Given the description of an element on the screen output the (x, y) to click on. 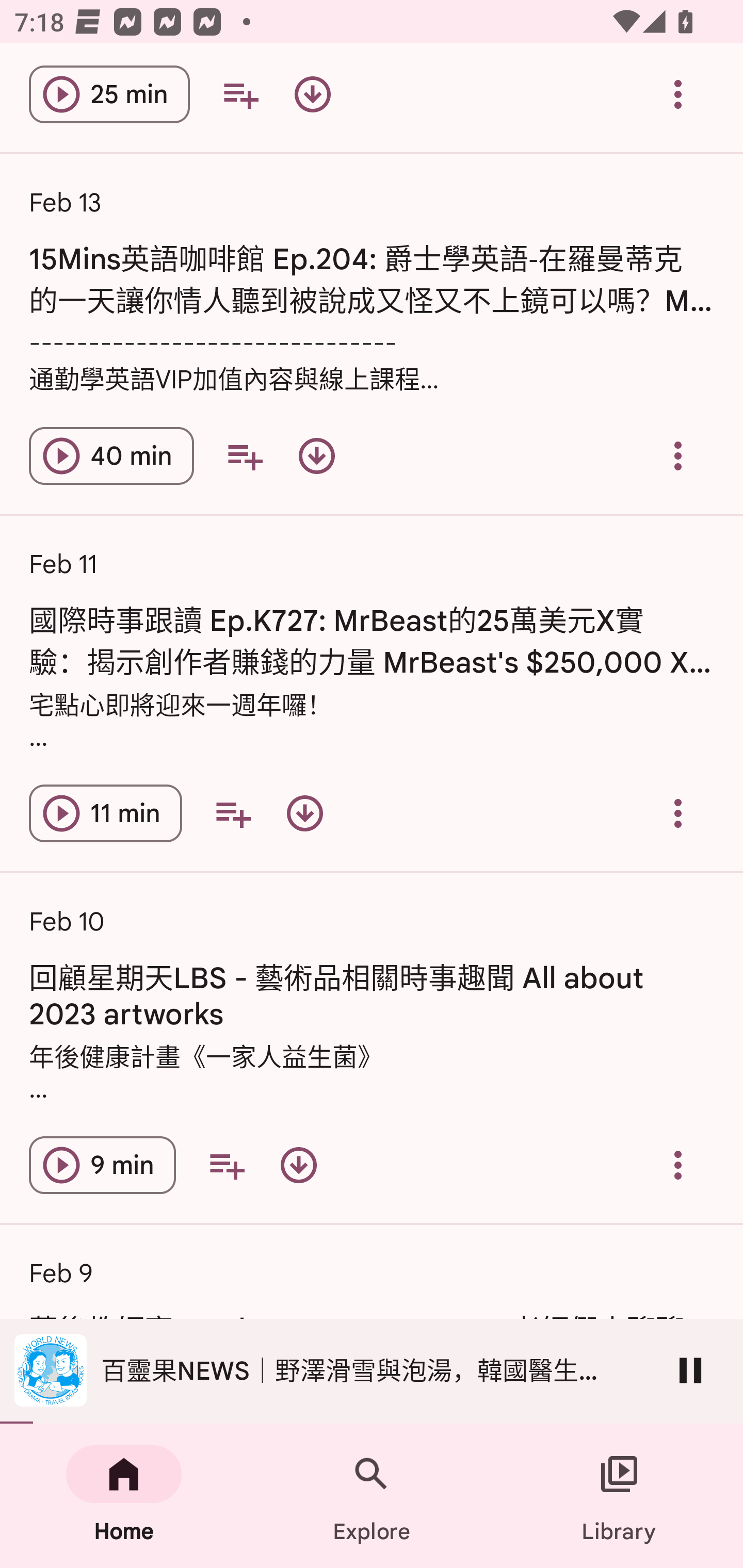
Add to your queue (240, 94)
Download episode (312, 94)
Overflow menu (677, 94)
Add to your queue (244, 455)
Download episode (316, 455)
Overflow menu (677, 455)
Add to your queue (232, 812)
Download episode (304, 812)
Overflow menu (677, 812)
Add to your queue (226, 1164)
Download episode (298, 1164)
Overflow menu (677, 1164)
Pause (690, 1370)
Explore (371, 1495)
Library (619, 1495)
